Given the description of an element on the screen output the (x, y) to click on. 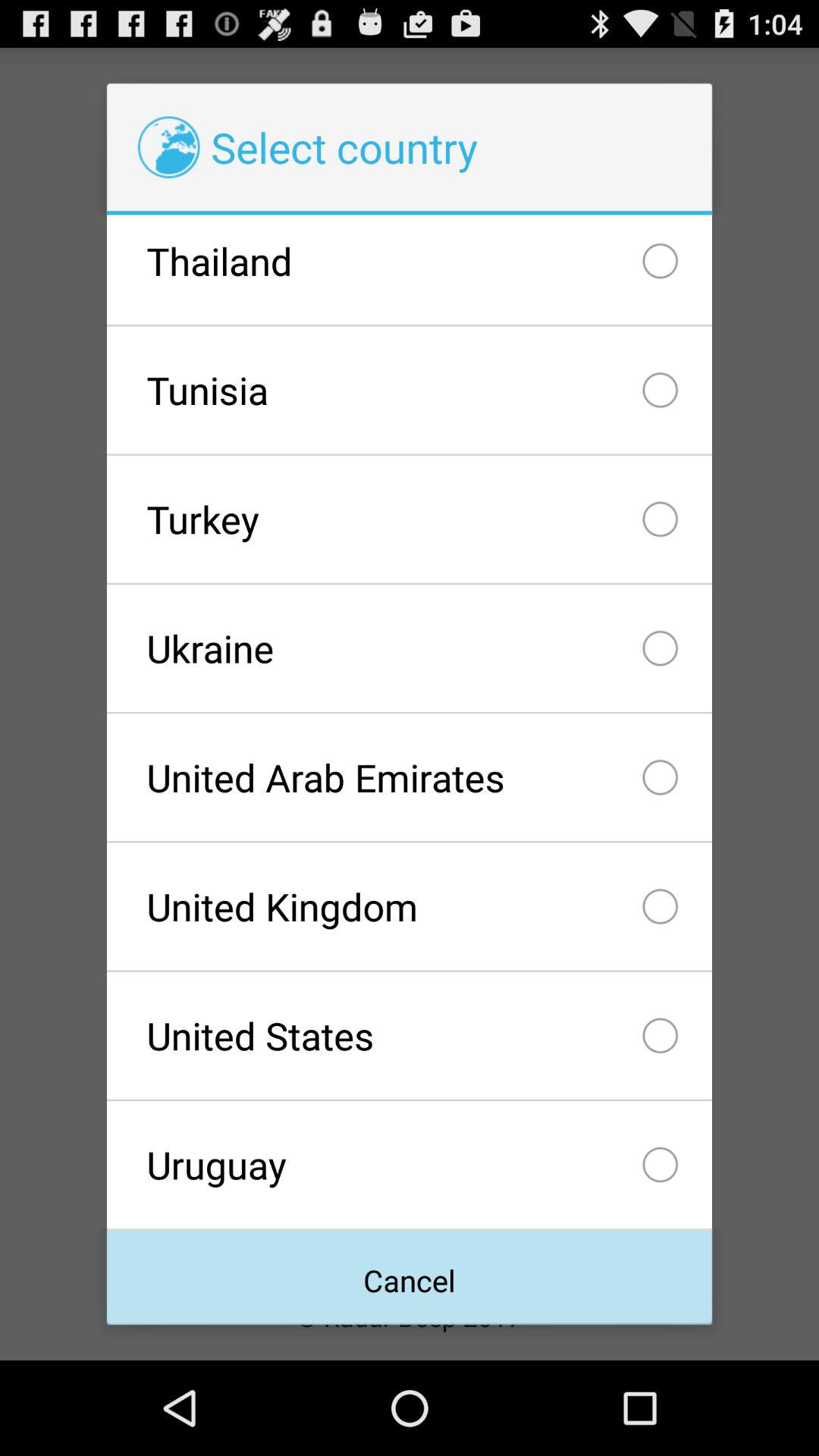
launch checkbox below the thailand item (409, 389)
